Given the description of an element on the screen output the (x, y) to click on. 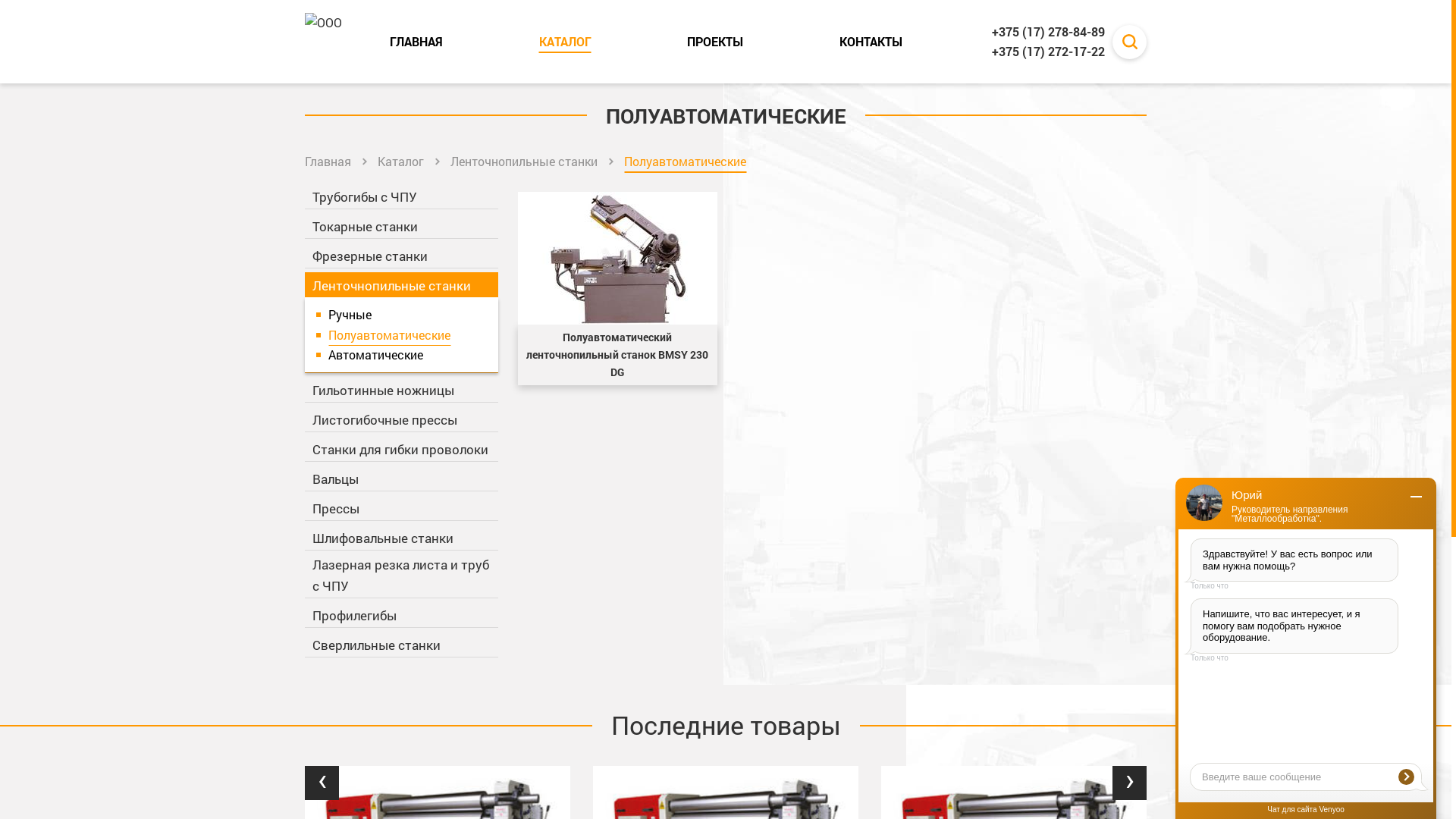
+375 (17) 278-84-89 Element type: text (1047, 31)
+375 (17) 272-17-22 Element type: text (1047, 51)
